Given the description of an element on the screen output the (x, y) to click on. 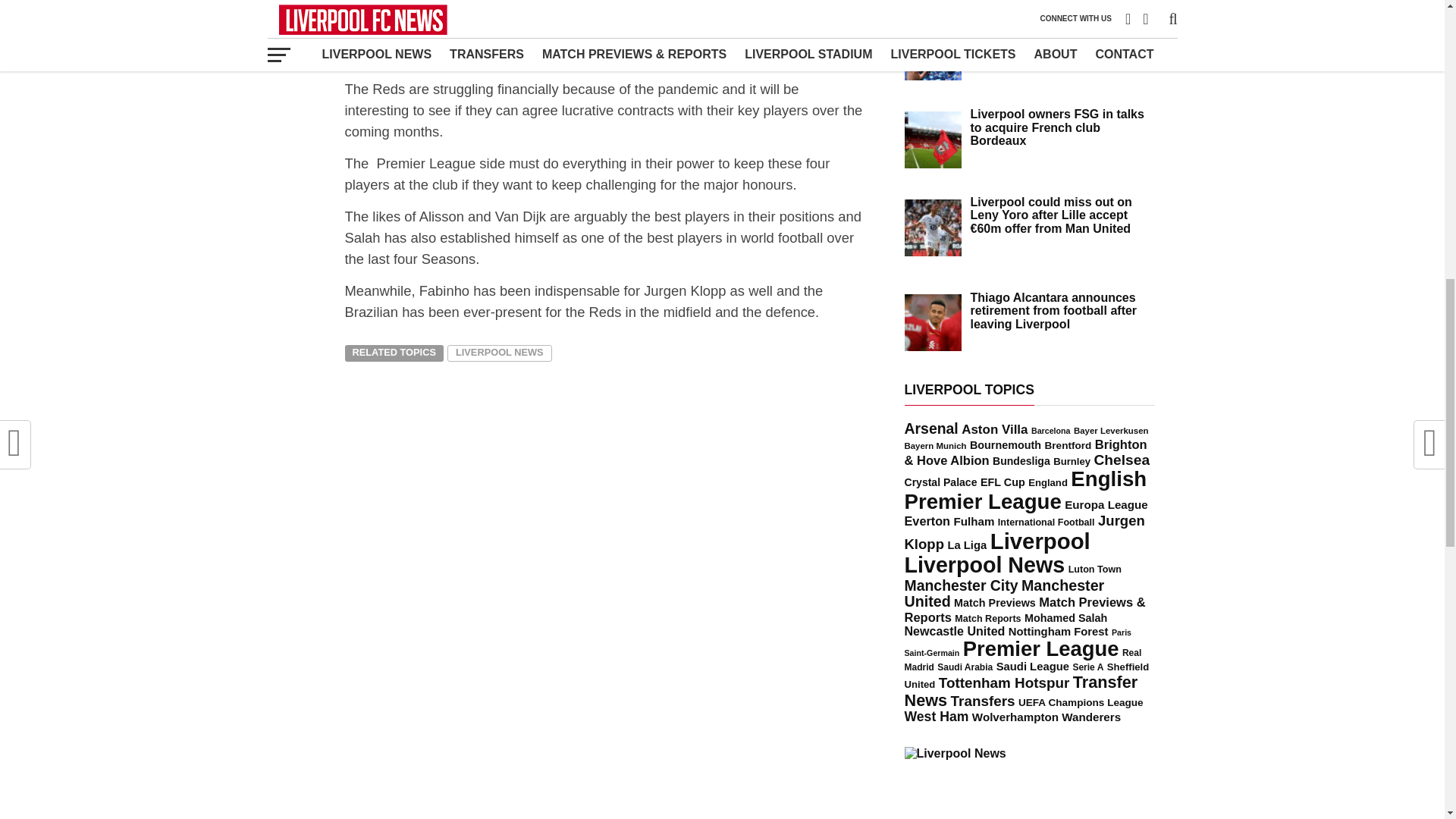
Aston Villa (993, 429)
Bayer Leverkusen star Jeremie Frimpong eyes Liverpool switch (1060, 38)
Arsenal (931, 428)
LIVERPOOL NEWS (498, 352)
Liverpool News (955, 753)
Barcelona (1050, 429)
